Given the description of an element on the screen output the (x, y) to click on. 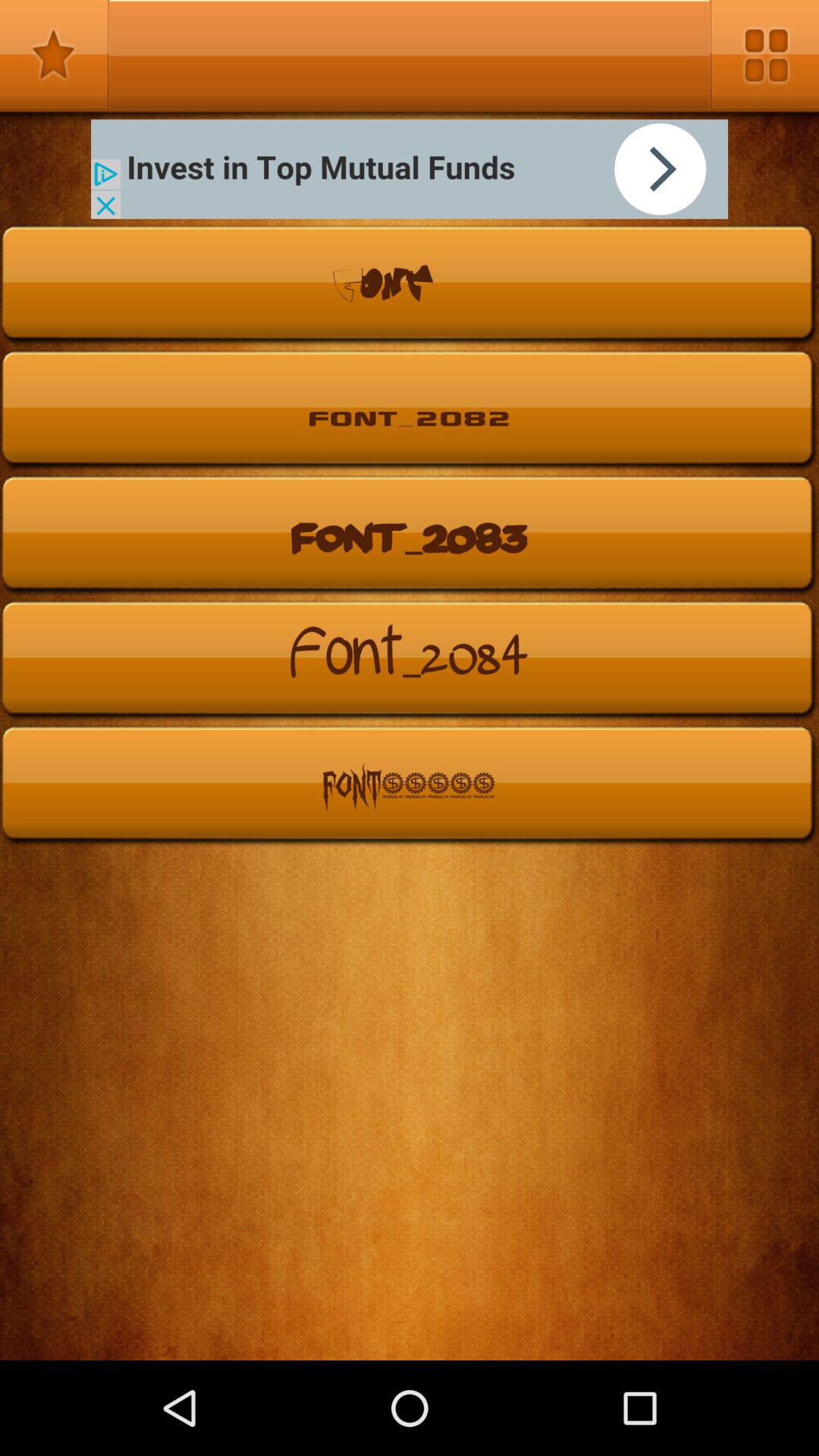
favorite fonts (54, 54)
